Given the description of an element on the screen output the (x, y) to click on. 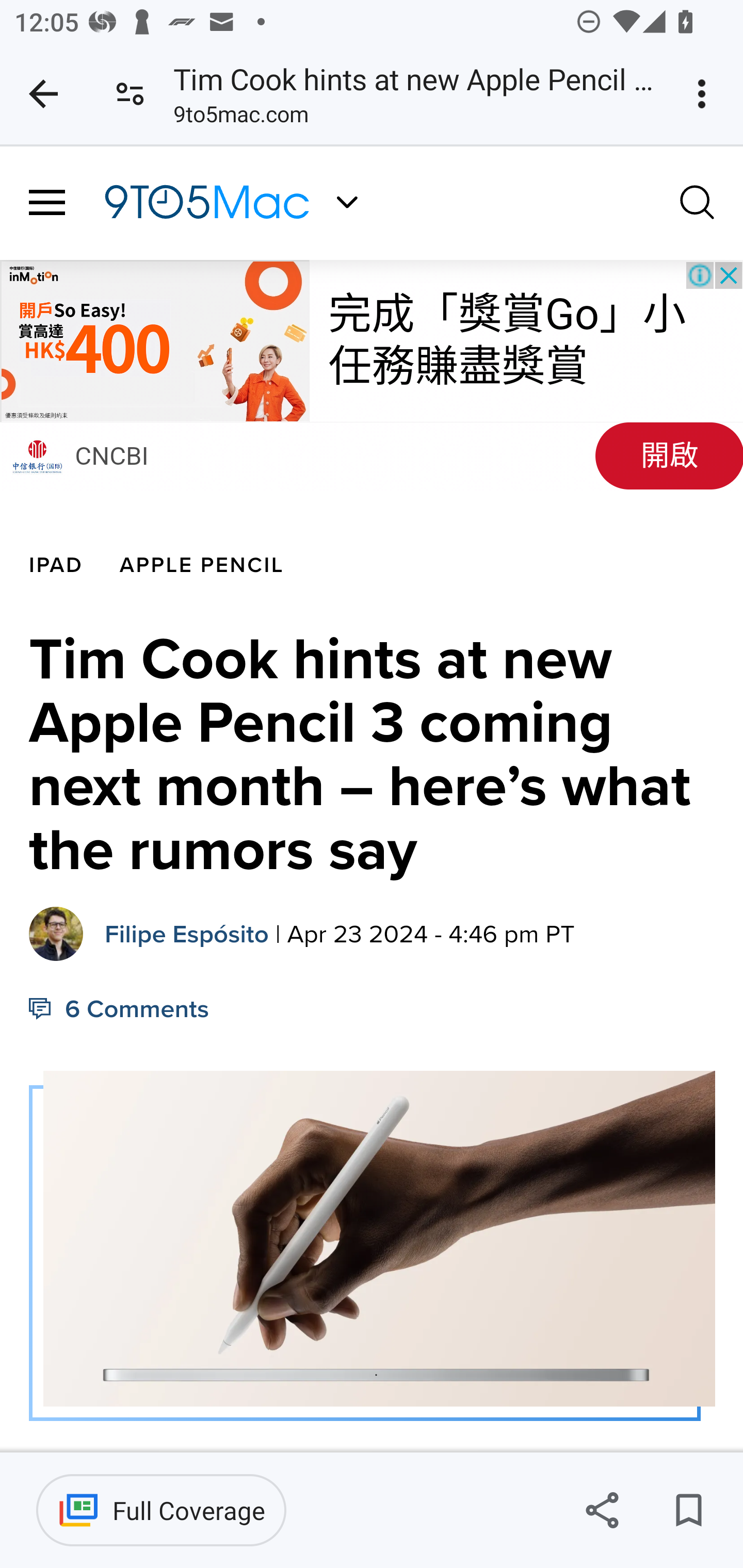
Close tab (43, 93)
Customize and control Google Chrome (705, 93)
Connection is secure (129, 93)
9to5mac.com (240, 117)
Toggle main menu (46, 203)
Toggle search form (697, 201)
Switch site (346, 202)
Full Coverage (161, 1509)
Share (601, 1510)
Save for later (688, 1510)
